Given the description of an element on the screen output the (x, y) to click on. 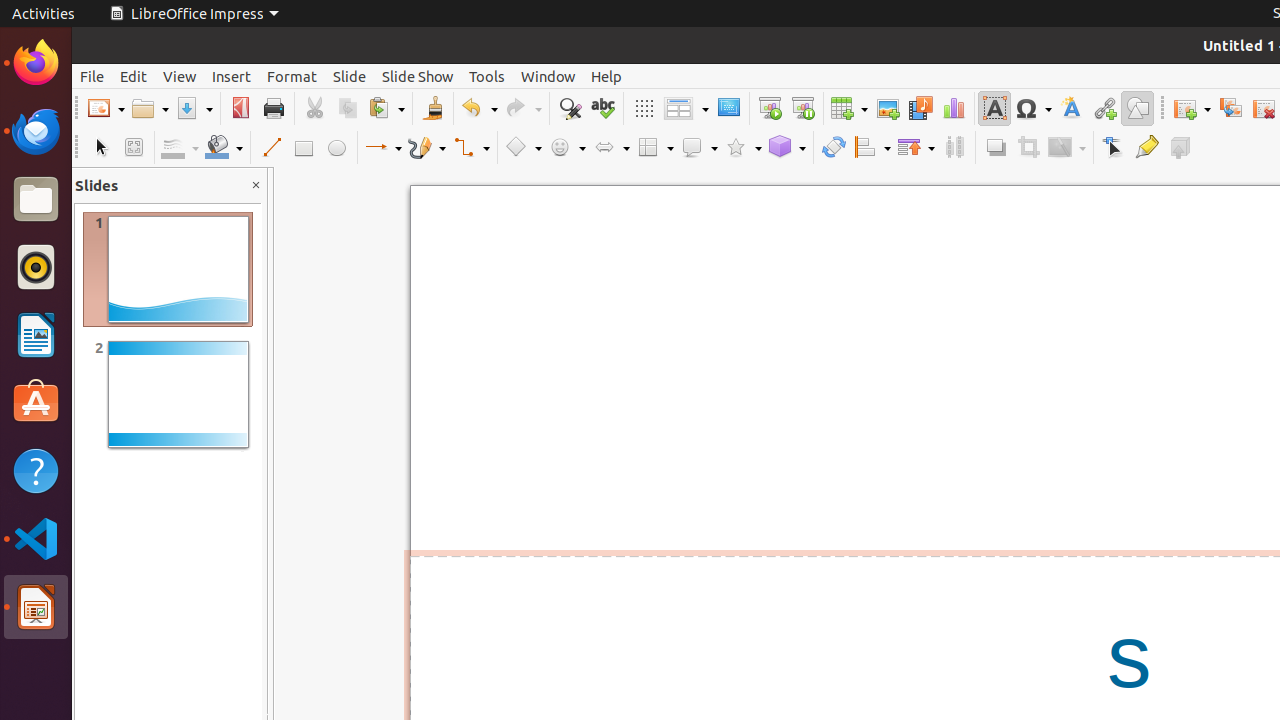
Rhythmbox Element type: push-button (36, 267)
Tools Element type: menu (487, 76)
Symbol Element type: push-button (1033, 108)
Symbol Shapes Element type: push-button (567, 147)
